Given the description of an element on the screen output the (x, y) to click on. 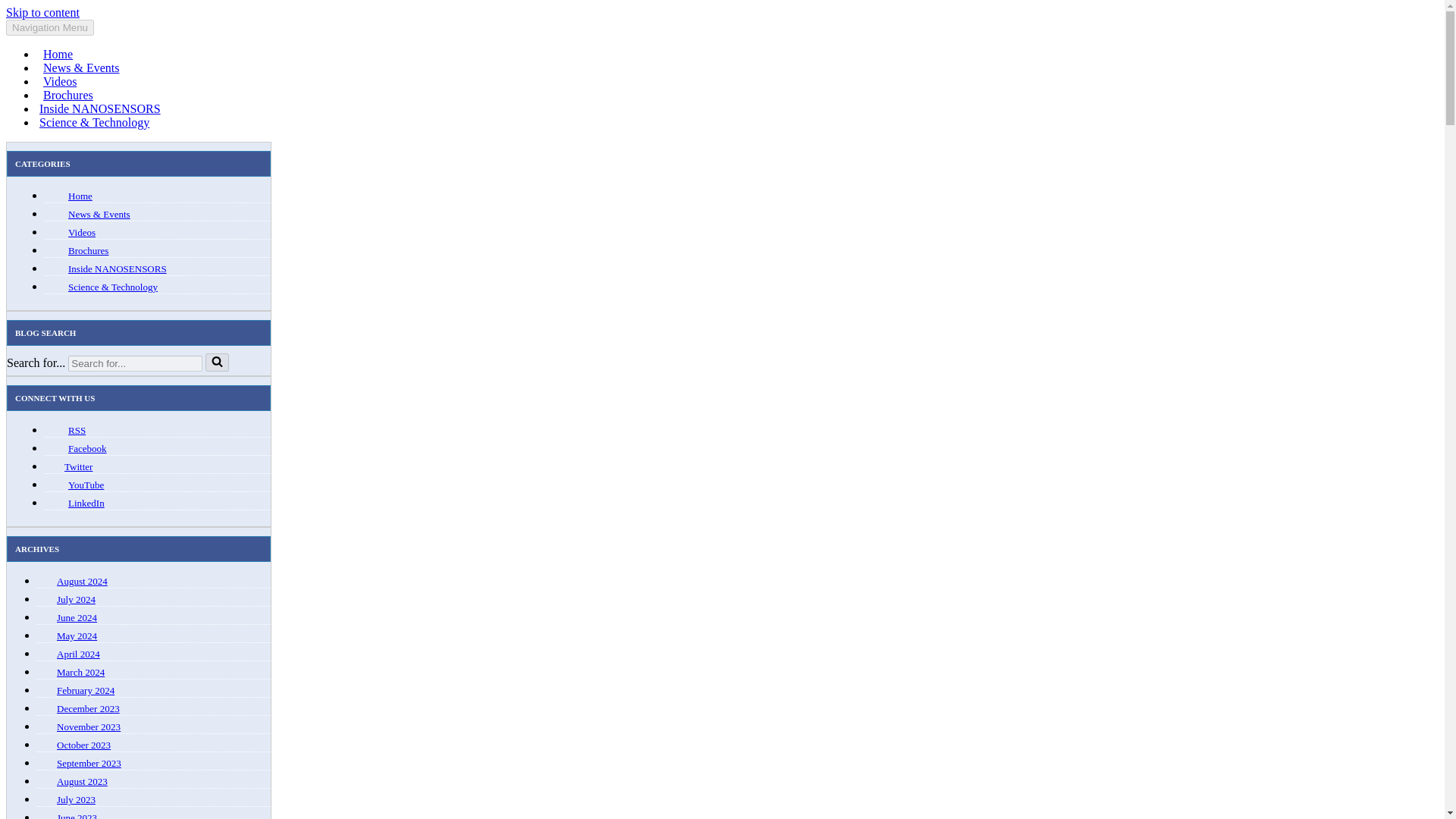
Home (57, 54)
August 2024 (81, 581)
November 2023 (88, 726)
October 2023 (83, 745)
December 2023 (87, 708)
Navigation Menu (49, 27)
August 2023 (81, 781)
Inside NANOSENSORS (117, 268)
LinkedIn (86, 502)
September 2023 (88, 763)
